Given the description of an element on the screen output the (x, y) to click on. 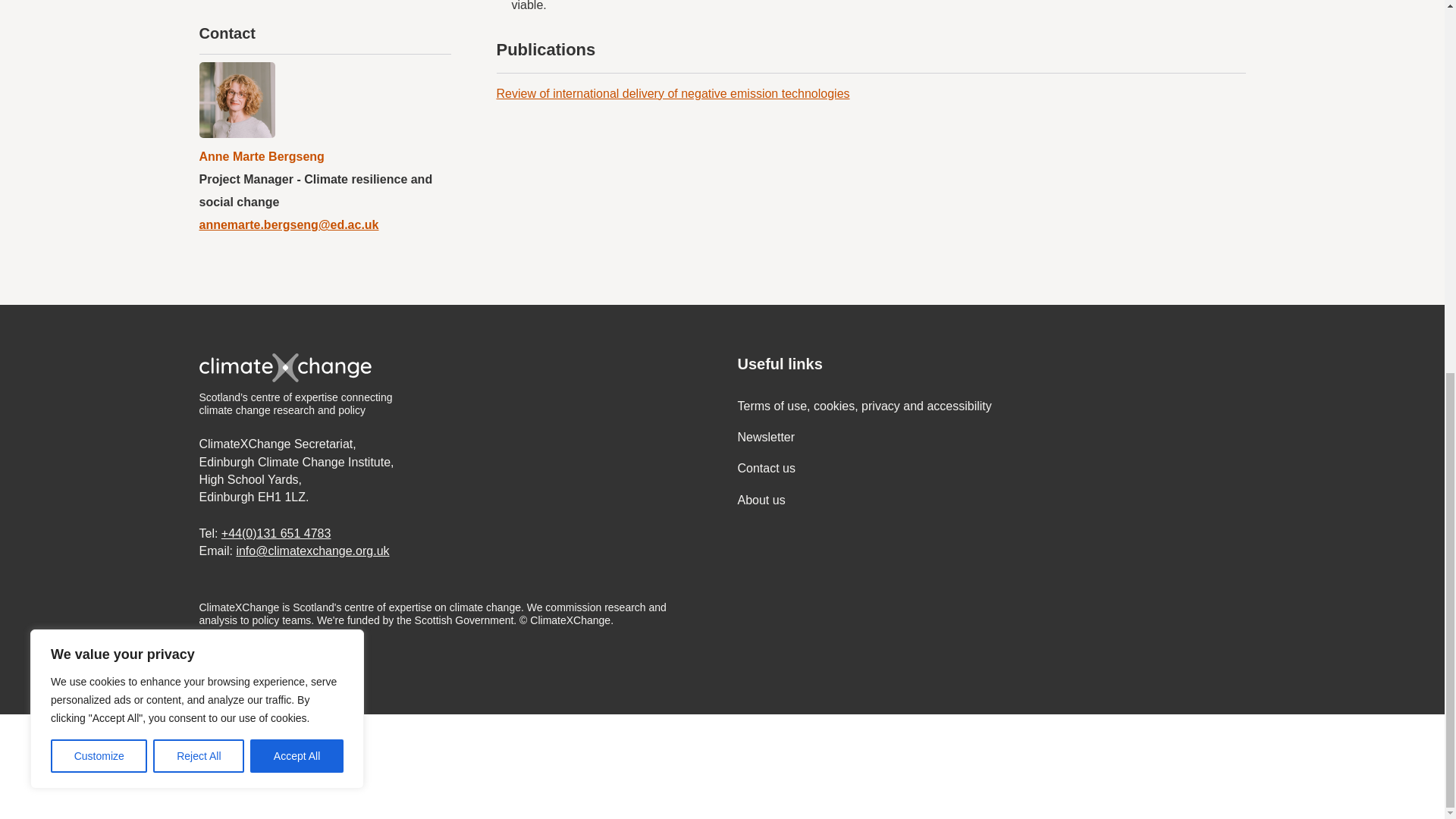
Customize (98, 73)
internet-crystal-mark (417, 766)
Reject All (198, 73)
Accept All (296, 73)
government-logo-1-e1696504105465-300x46 (180, 766)
